Given the description of an element on the screen output the (x, y) to click on. 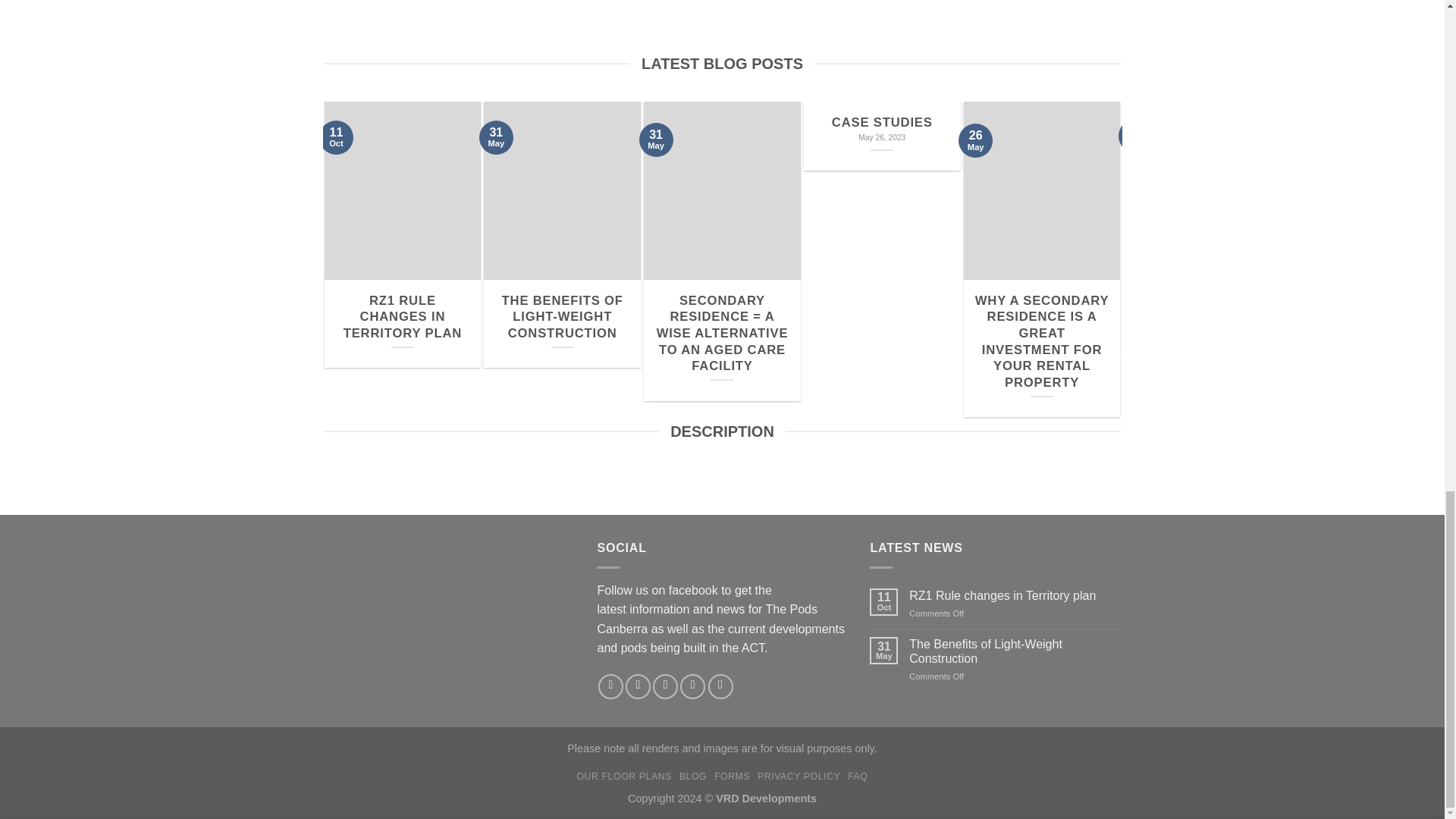
Follow on Facebook (881, 135)
Send us an email (610, 686)
Follow on YouTube (638, 686)
Follow on Pinterest (720, 686)
The Benefits of Light-Weight Construction (665, 686)
Follow on LinkedIn (1013, 651)
RZ1 Rule changes in Territory plan (691, 686)
